Given the description of an element on the screen output the (x, y) to click on. 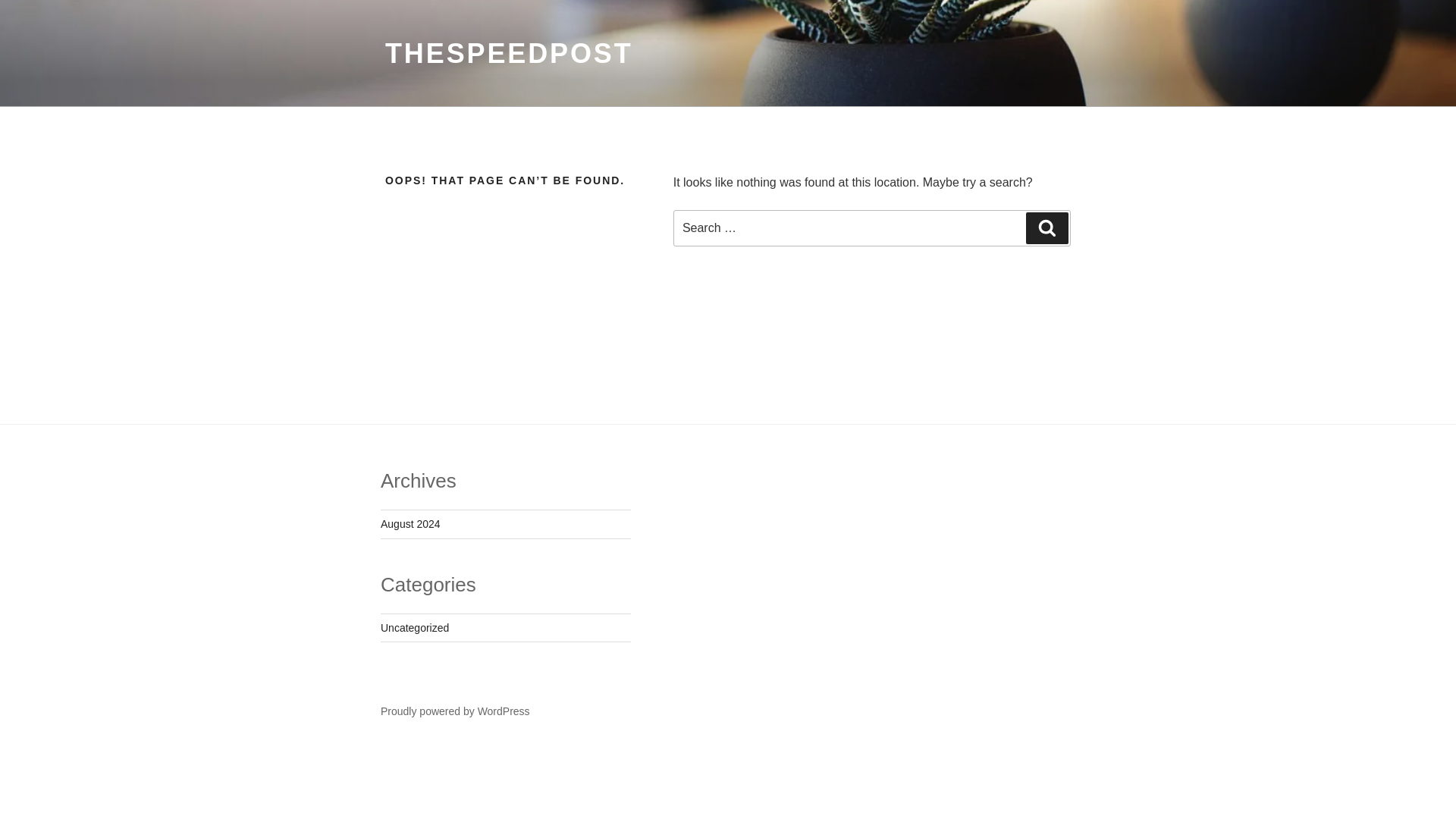
Search (1047, 228)
Proudly powered by WordPress (454, 711)
Uncategorized (414, 627)
THESPEEDPOST (509, 52)
August 2024 (410, 523)
